Given the description of an element on the screen output the (x, y) to click on. 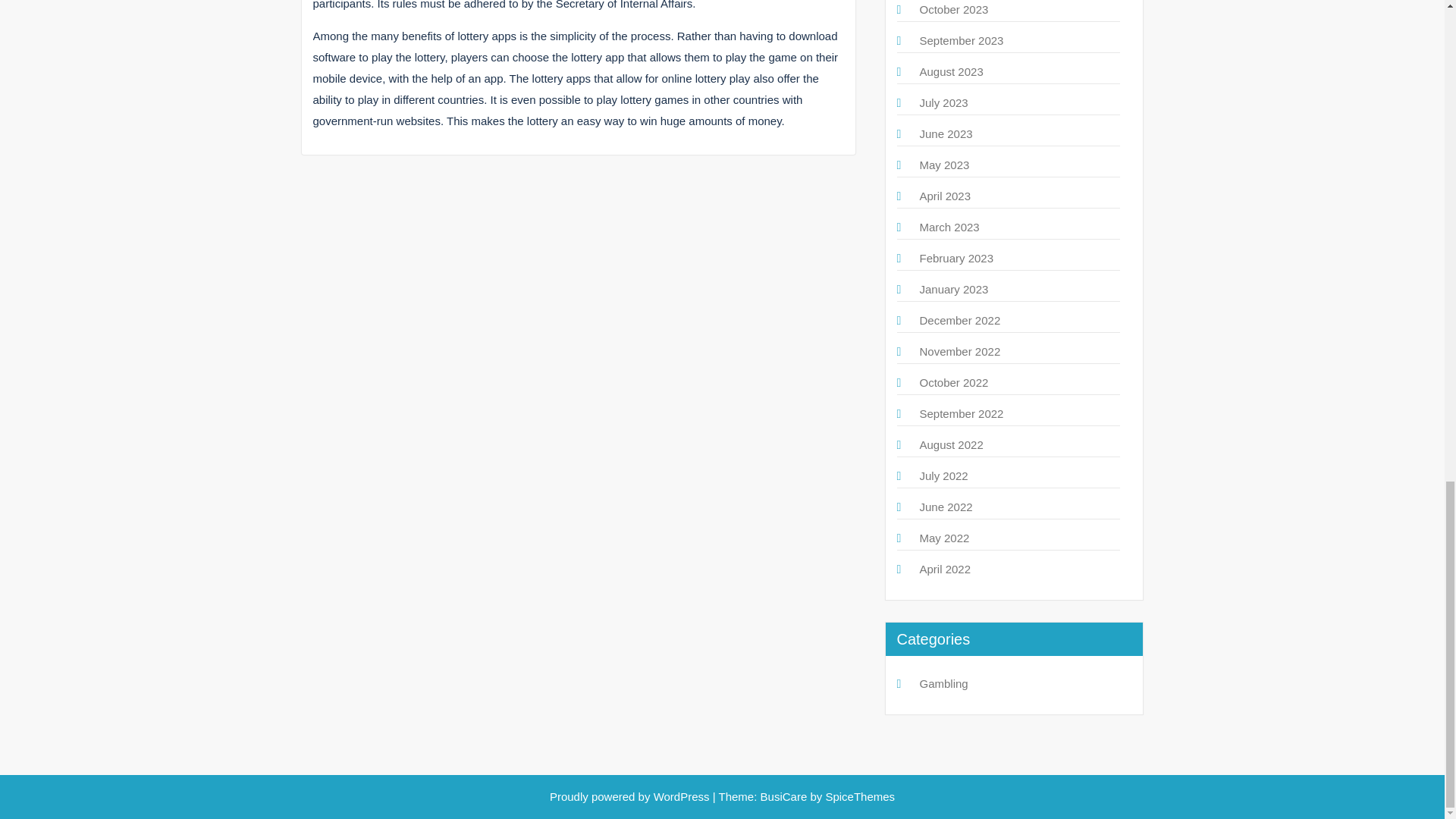
October 2023 (953, 9)
January 2023 (953, 288)
September 2022 (960, 413)
October 2022 (953, 382)
June 2023 (945, 133)
February 2023 (955, 257)
July 2022 (943, 475)
August 2023 (950, 71)
December 2022 (959, 319)
May 2023 (943, 164)
August 2022 (950, 444)
April 2023 (944, 195)
July 2023 (943, 102)
September 2023 (960, 40)
June 2022 (945, 506)
